Given the description of an element on the screen output the (x, y) to click on. 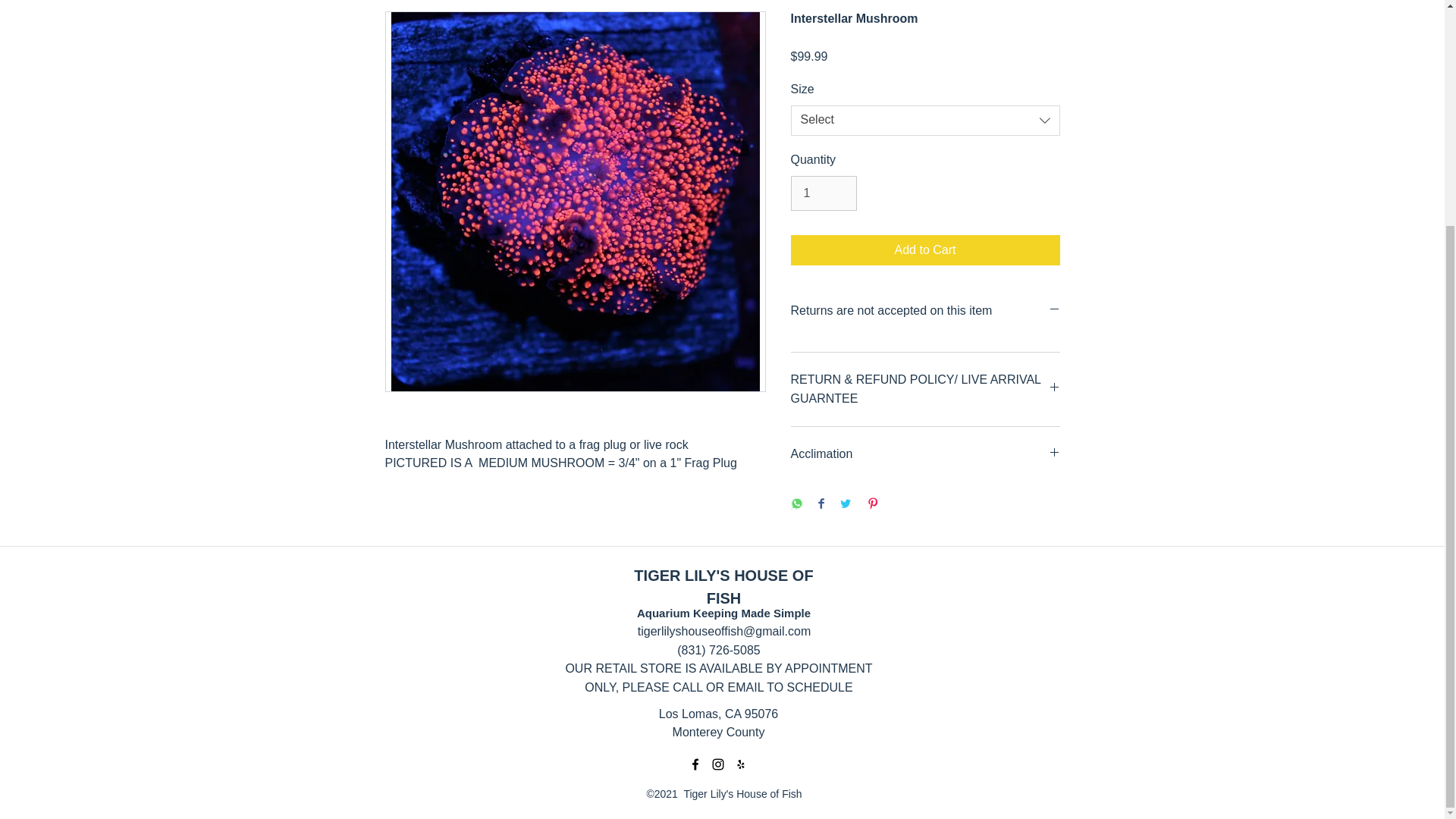
1 (823, 193)
Add to Cart (924, 250)
Select (924, 120)
